Given the description of an element on the screen output the (x, y) to click on. 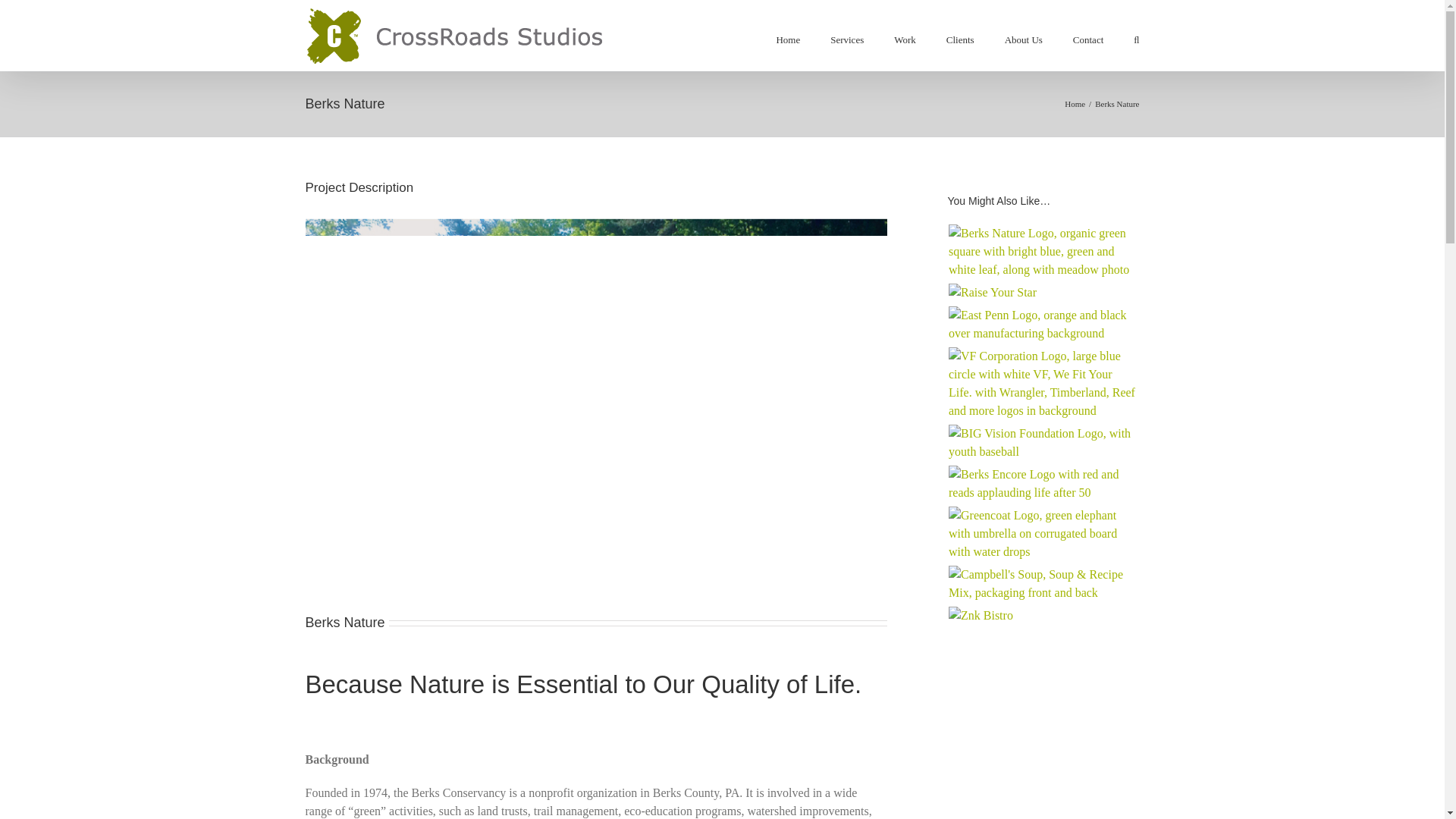
Clients (960, 39)
East Penn Manufacturing (1043, 323)
Contact (1088, 39)
Berks Nature (1043, 251)
Home (1074, 103)
Berks Encore (1043, 483)
Home (787, 39)
About Us (1023, 39)
BIG Vision Foundation (1043, 442)
Services (846, 39)
Work (904, 39)
Znk Bistro (980, 615)
VF Corporation (1043, 383)
Raise Your Star (992, 292)
